Given the description of an element on the screen output the (x, y) to click on. 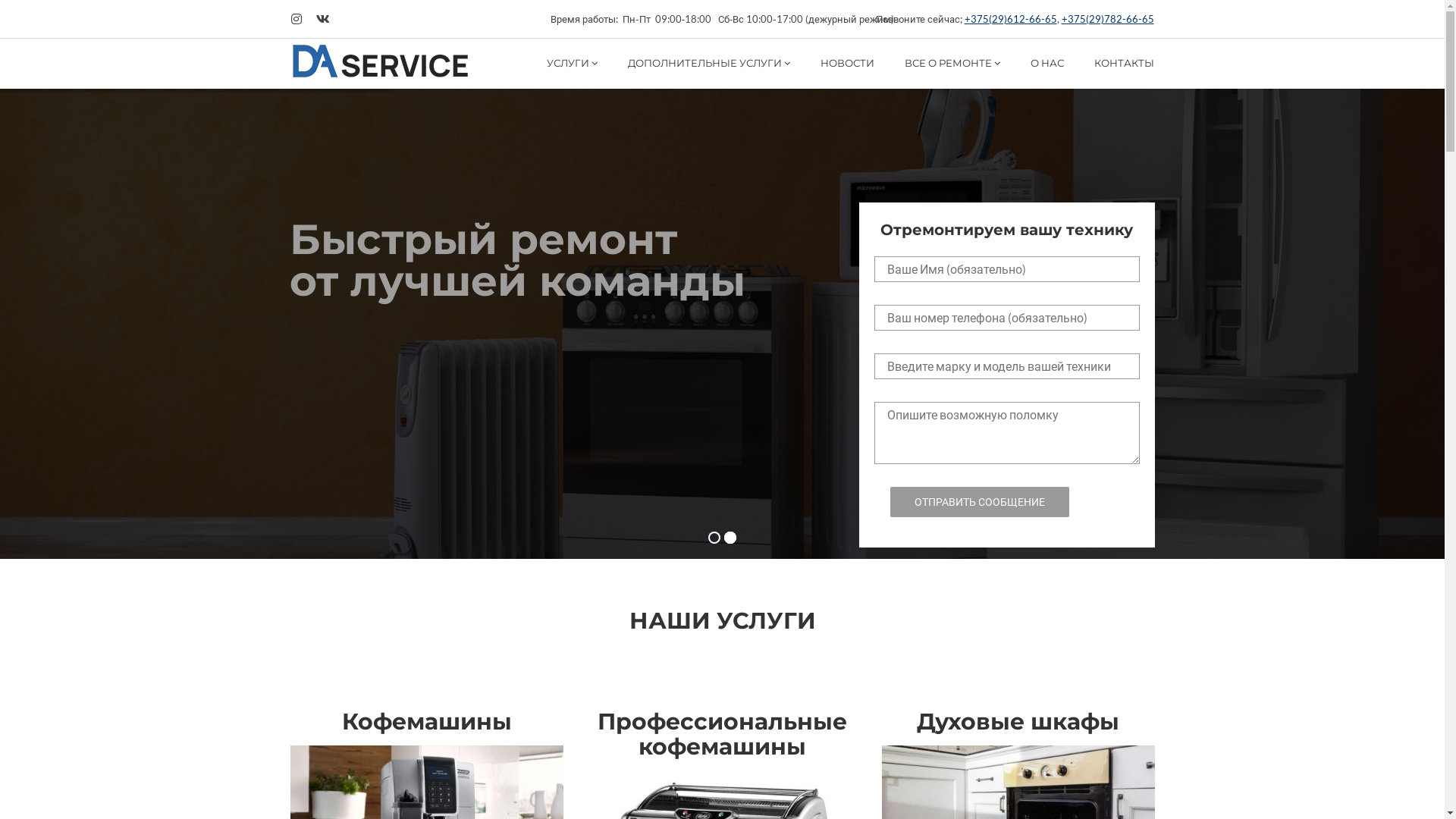
+375(29)782-66-65 Element type: text (1107, 18)
+375(29)612-66-65 Element type: text (1010, 18)
